Given the description of an element on the screen output the (x, y) to click on. 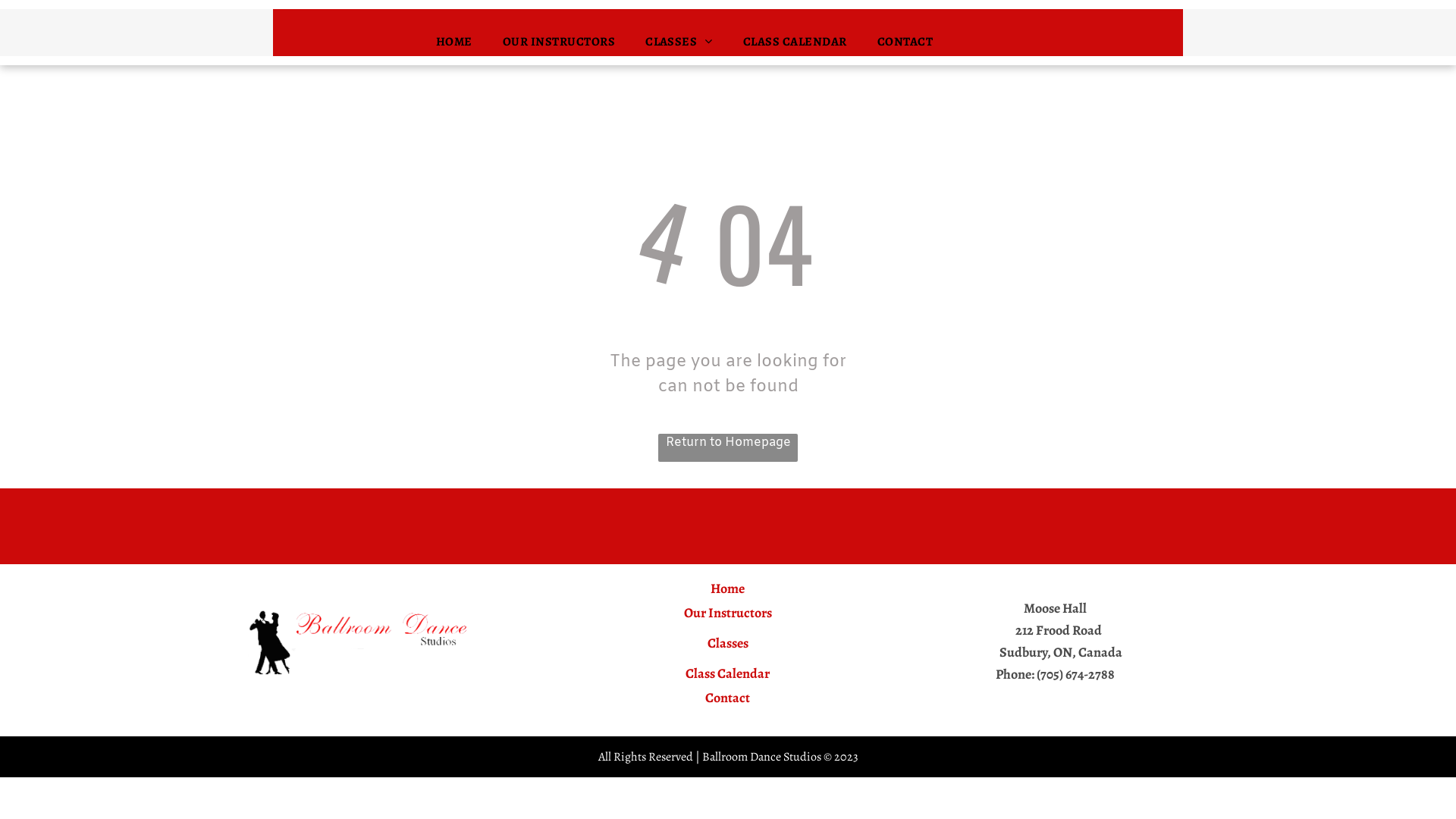
Classes Element type: text (727, 642)
HOME Element type: text (453, 41)
Contact Element type: text (727, 697)
OUR INSTRUCTORS Element type: text (558, 41)
Return to Homepage Element type: text (727, 447)
CONTACT Element type: text (904, 41)
CLASSES Element type: text (679, 41)
Class Calendar Element type: text (727, 673)
Our Instructors Element type: text (727, 612)
CLASS CALENDAR Element type: text (795, 41)
Home Element type: text (727, 588)
